Given the description of an element on the screen output the (x, y) to click on. 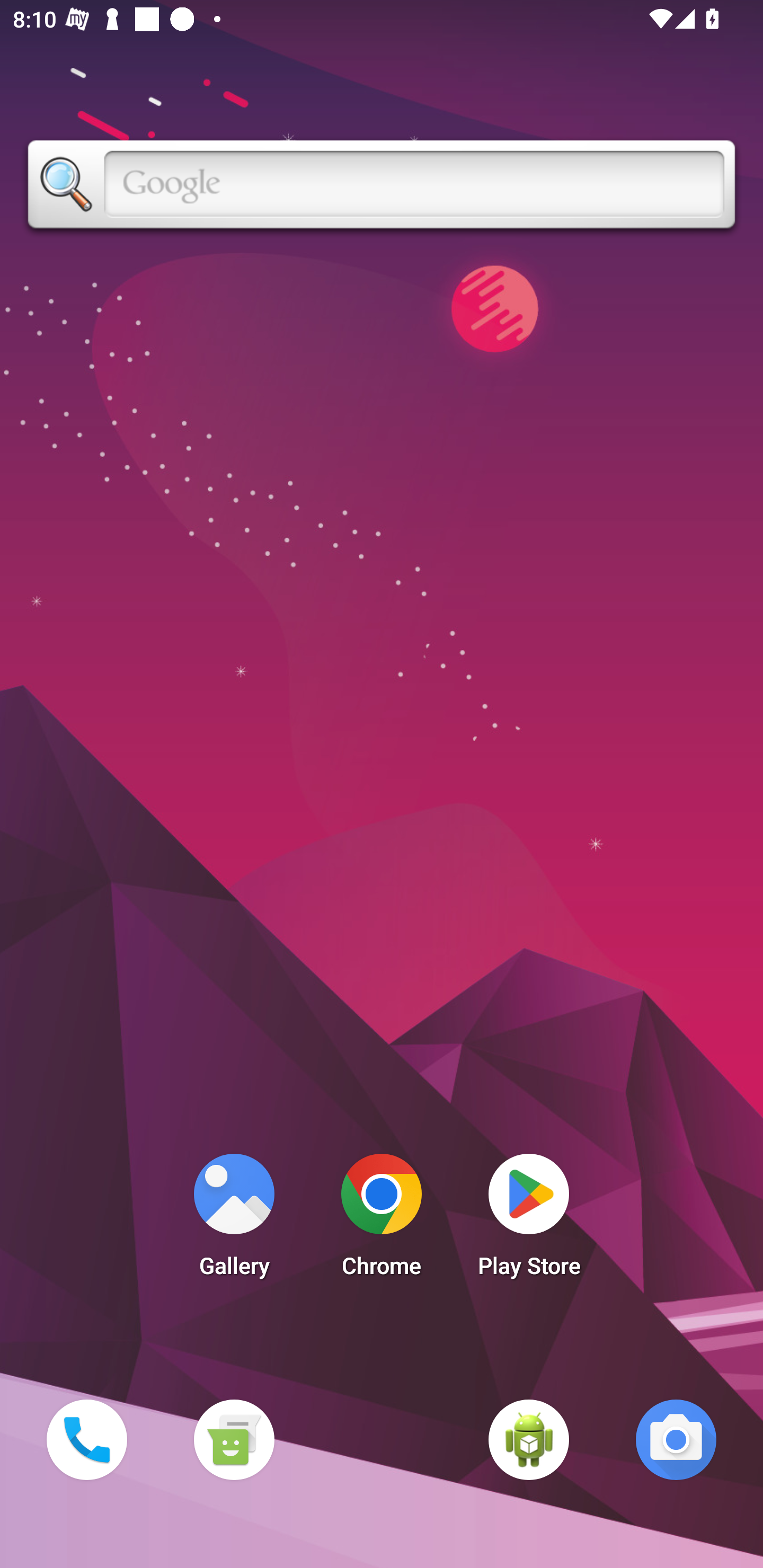
Gallery (233, 1220)
Chrome (381, 1220)
Play Store (528, 1220)
Phone (86, 1439)
Messaging (233, 1439)
WebView Browser Tester (528, 1439)
Camera (676, 1439)
